Given the description of an element on the screen output the (x, y) to click on. 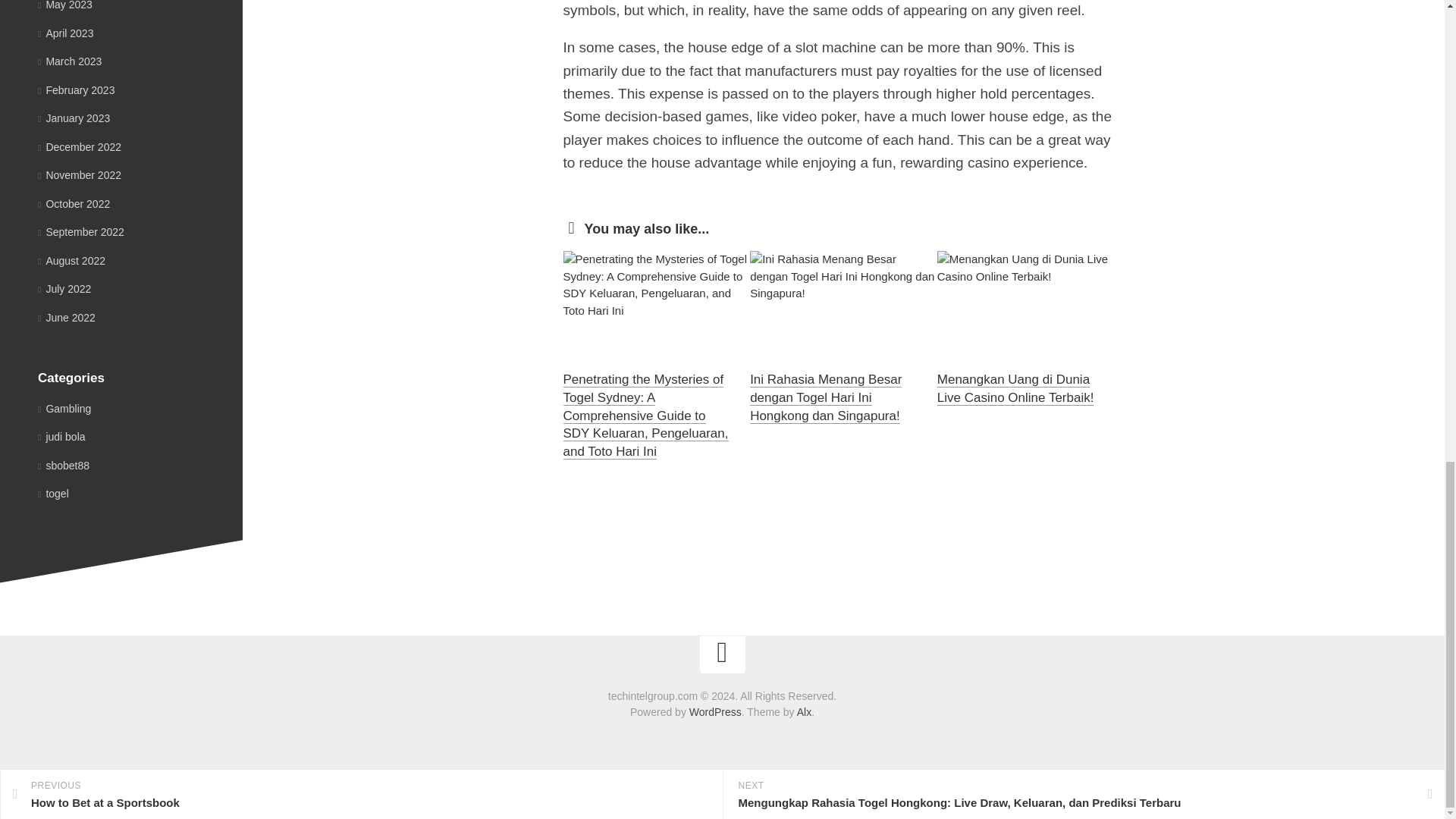
April 2023 (65, 33)
January 2023 (73, 118)
December 2022 (78, 146)
November 2022 (78, 174)
March 2023 (69, 61)
February 2023 (76, 89)
Menangkan Uang di Dunia Live Casino Online Terbaik! (1015, 388)
May 2023 (65, 5)
